Given the description of an element on the screen output the (x, y) to click on. 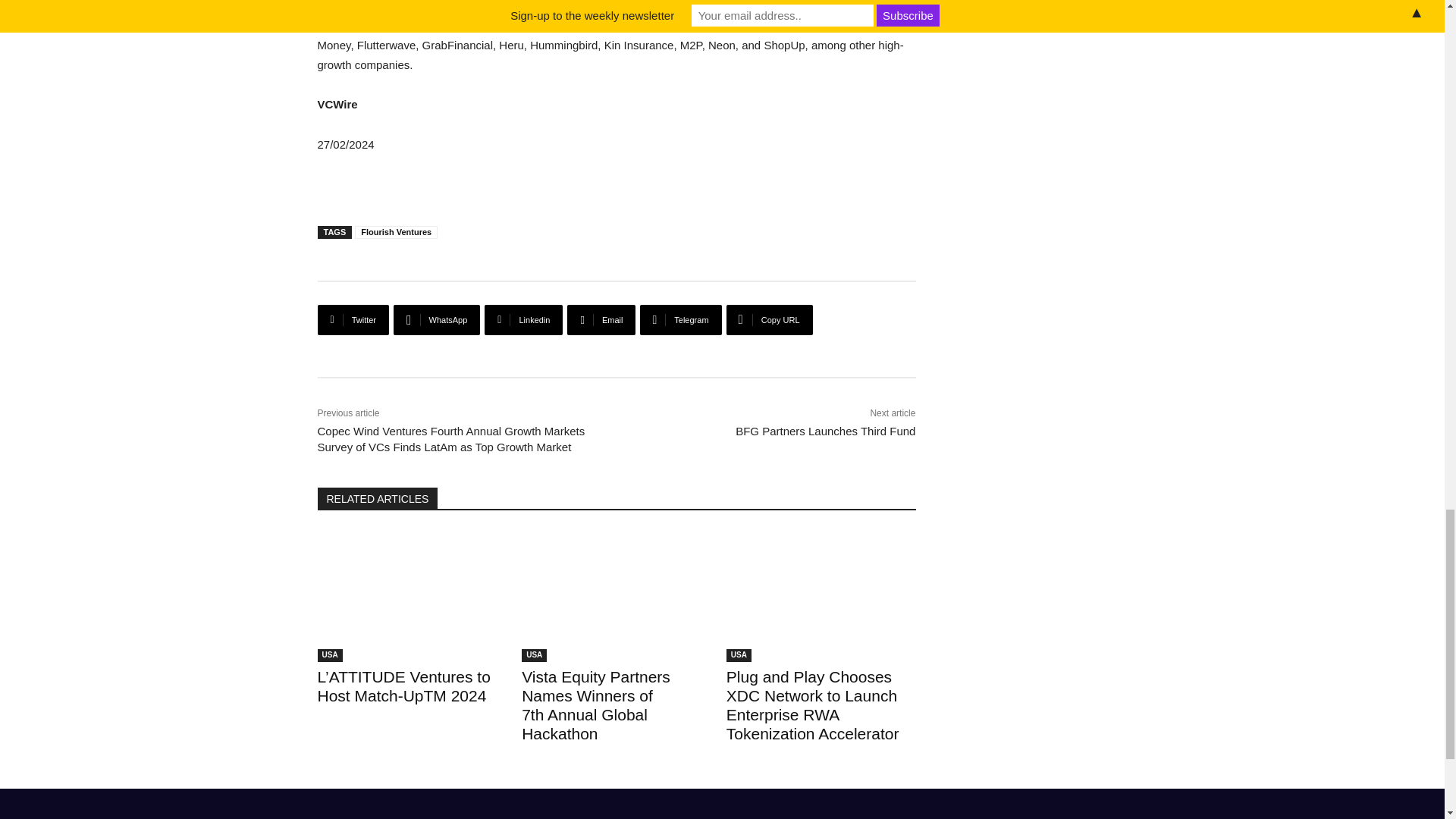
USA (738, 655)
Linkedin (523, 319)
Linkedin (523, 319)
WhatsApp (436, 319)
Copy URL (769, 319)
BFG Partners Launches Third Fund (825, 431)
Twitter (352, 319)
Copy URL (769, 319)
Telegram (680, 319)
Twitter (352, 319)
